Given the description of an element on the screen output the (x, y) to click on. 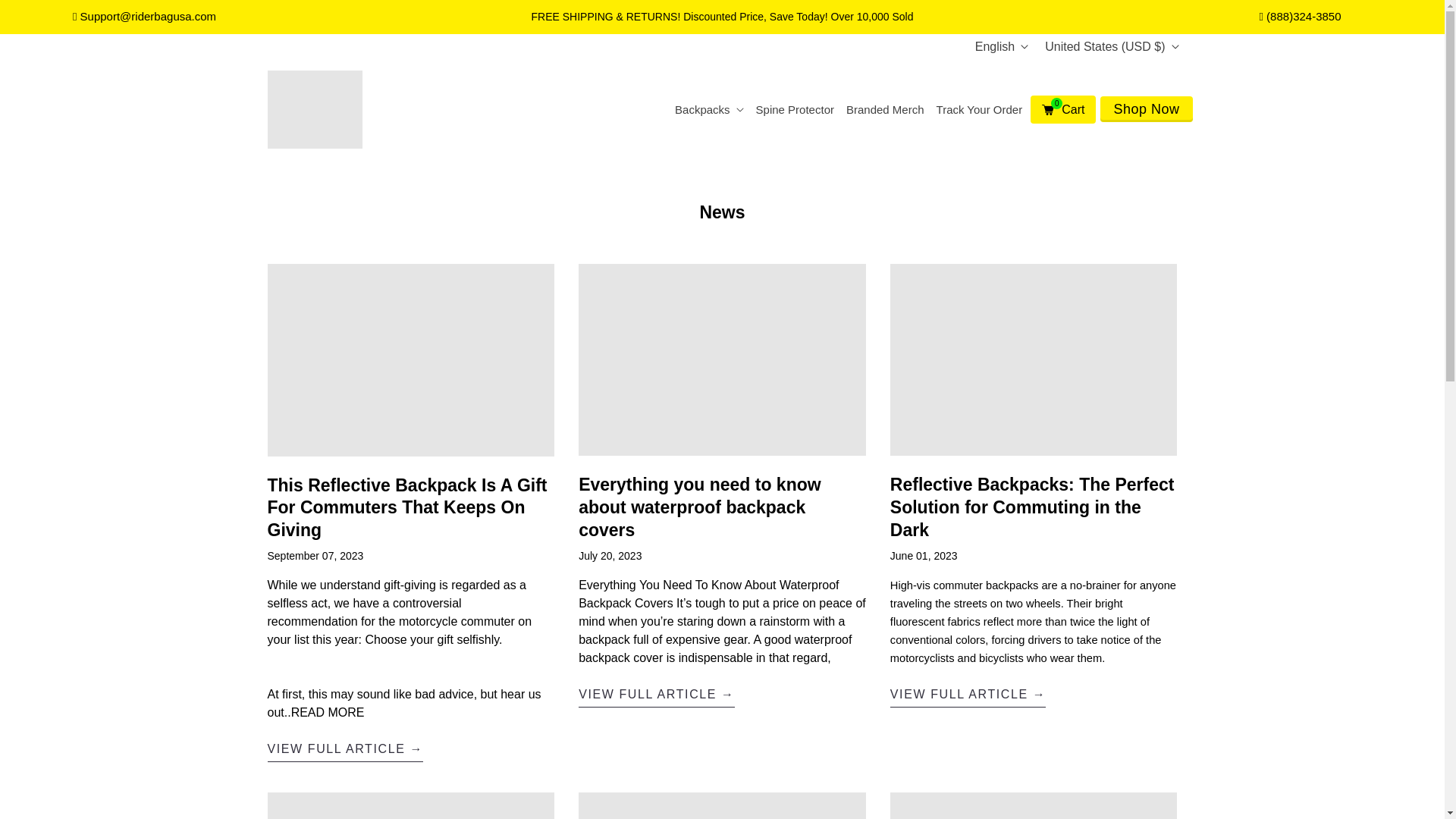
Branded Merch (885, 109)
Everything you need to know about waterproof backpack covers (699, 507)
Track Your Order (979, 109)
Everything you need to know about waterproof backpack covers (656, 696)
English (1000, 46)
Spine Protector (795, 109)
